Given the description of an element on the screen output the (x, y) to click on. 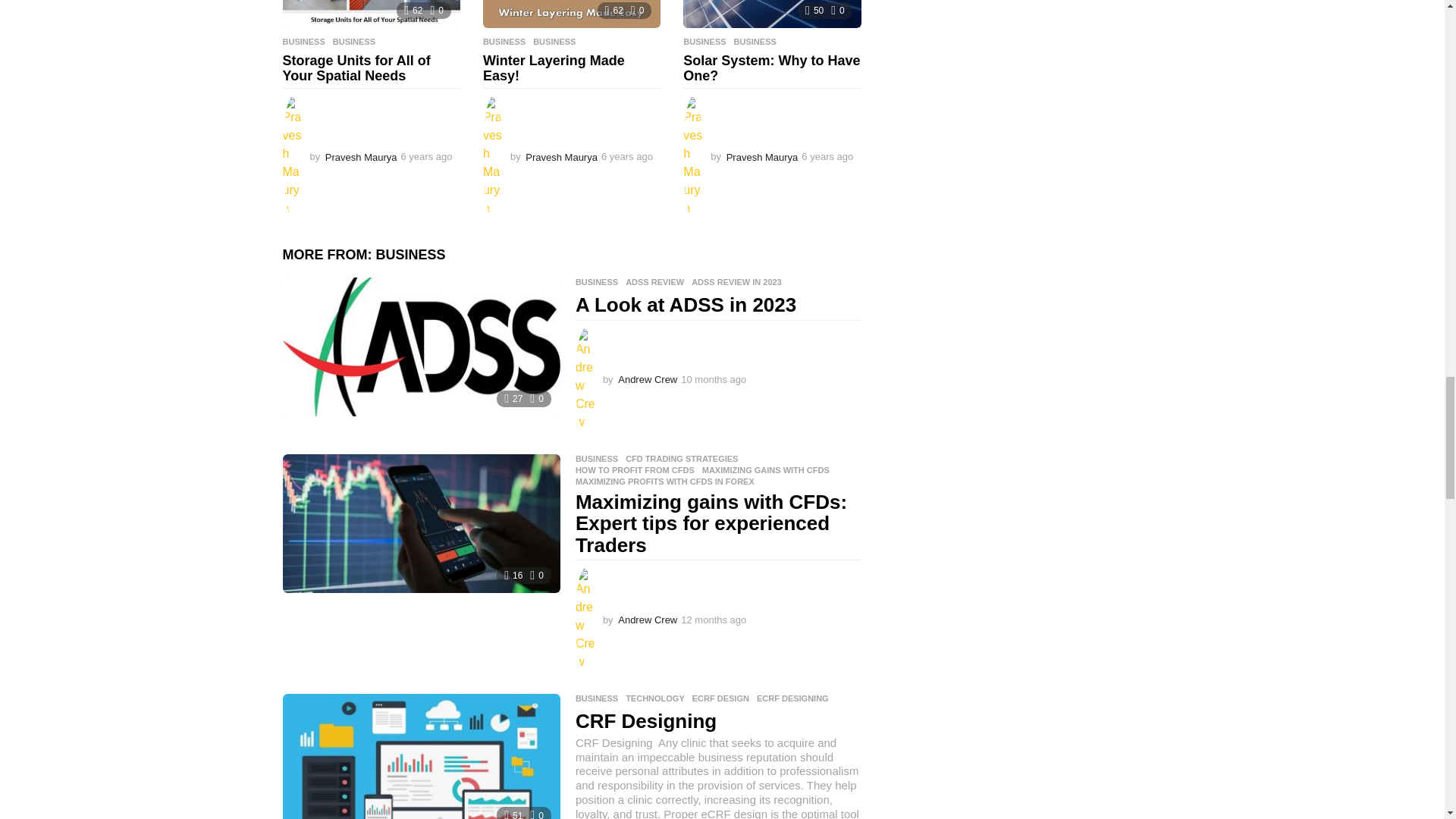
A Look at ADSS in 2023 (420, 346)
Winter Layering Made Easy! (572, 13)
CRF Designing (420, 756)
Solar System: Why to Have One? (771, 13)
Storage Units for All of Your Spatial Needs (371, 13)
